Given the description of an element on the screen output the (x, y) to click on. 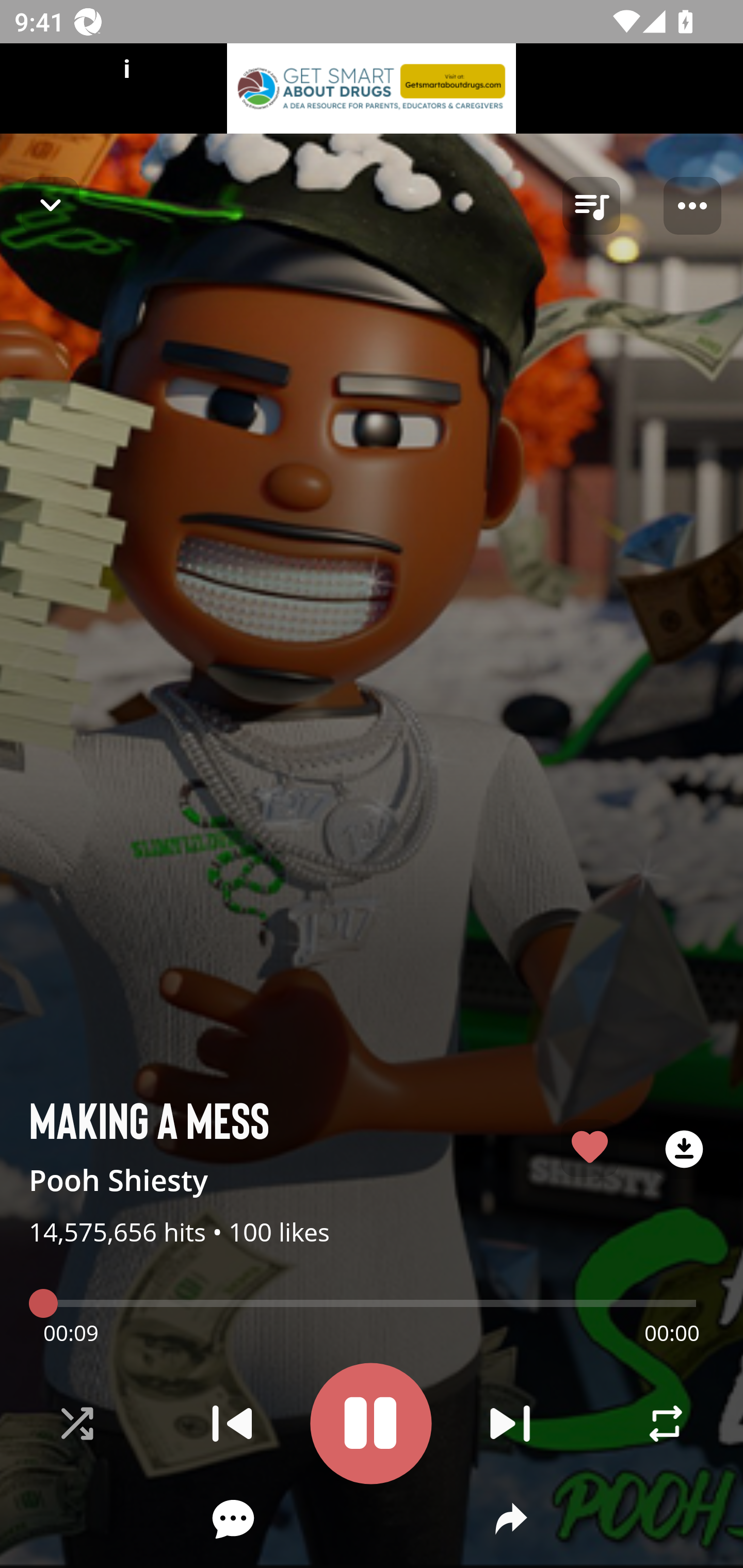
Navigate up (50, 205)
queue (590, 206)
Player options (692, 206)
